Given the description of an element on the screen output the (x, y) to click on. 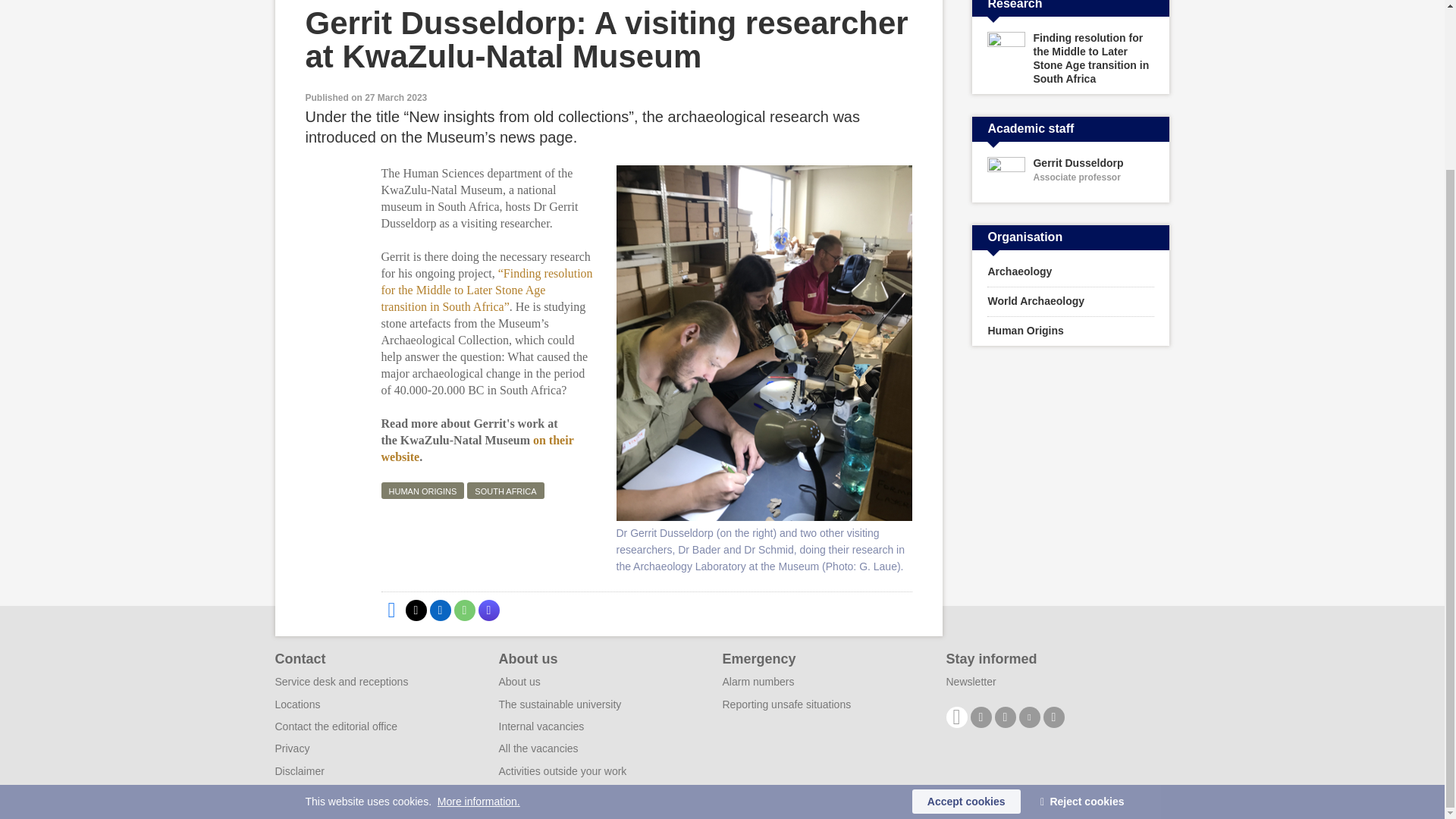
Share on LinkedIn (439, 609)
World Archaeology (1070, 175)
Share by Mastodon (1070, 301)
Share on X (488, 609)
Service desk and receptions (415, 609)
Human Origins (341, 681)
Share by WhatsApp (1070, 330)
Archaeology (463, 609)
HUMAN ORIGINS (1070, 271)
on their website (422, 490)
SOUTH AFRICA (476, 448)
Share on Facebook (505, 490)
